Given the description of an element on the screen output the (x, y) to click on. 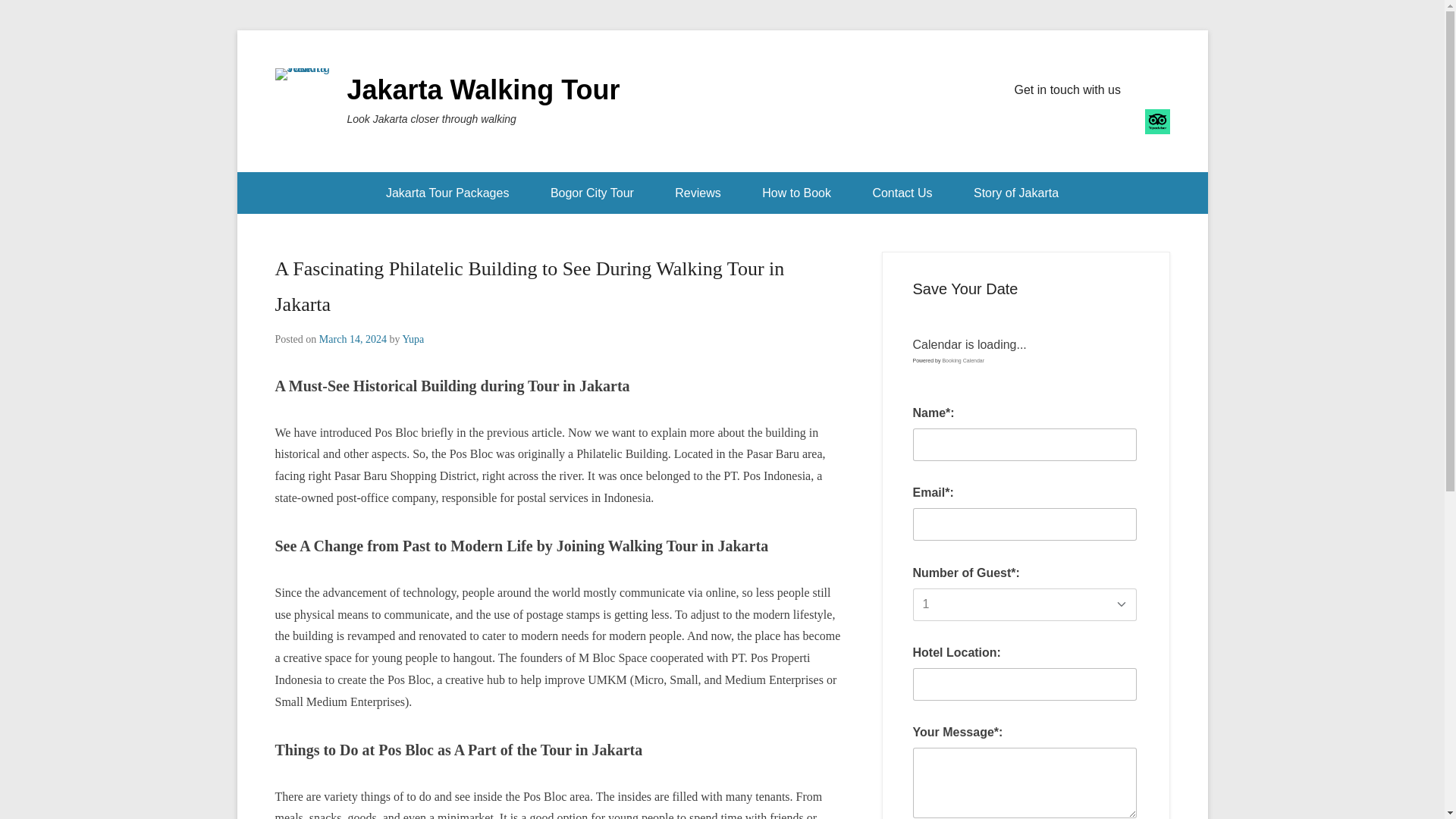
Facebook (1026, 121)
Instagram (1092, 121)
Jakarta Walking Tour (483, 89)
Explore Bogor Botanical Garden and Warm Bogor City (591, 192)
Story of Jakarta (1016, 192)
March 14, 2024 (352, 338)
TripAdvisor (1157, 121)
Jakarta Tour Packages (446, 192)
Email (1124, 121)
Email (1124, 121)
